Given the description of an element on the screen output the (x, y) to click on. 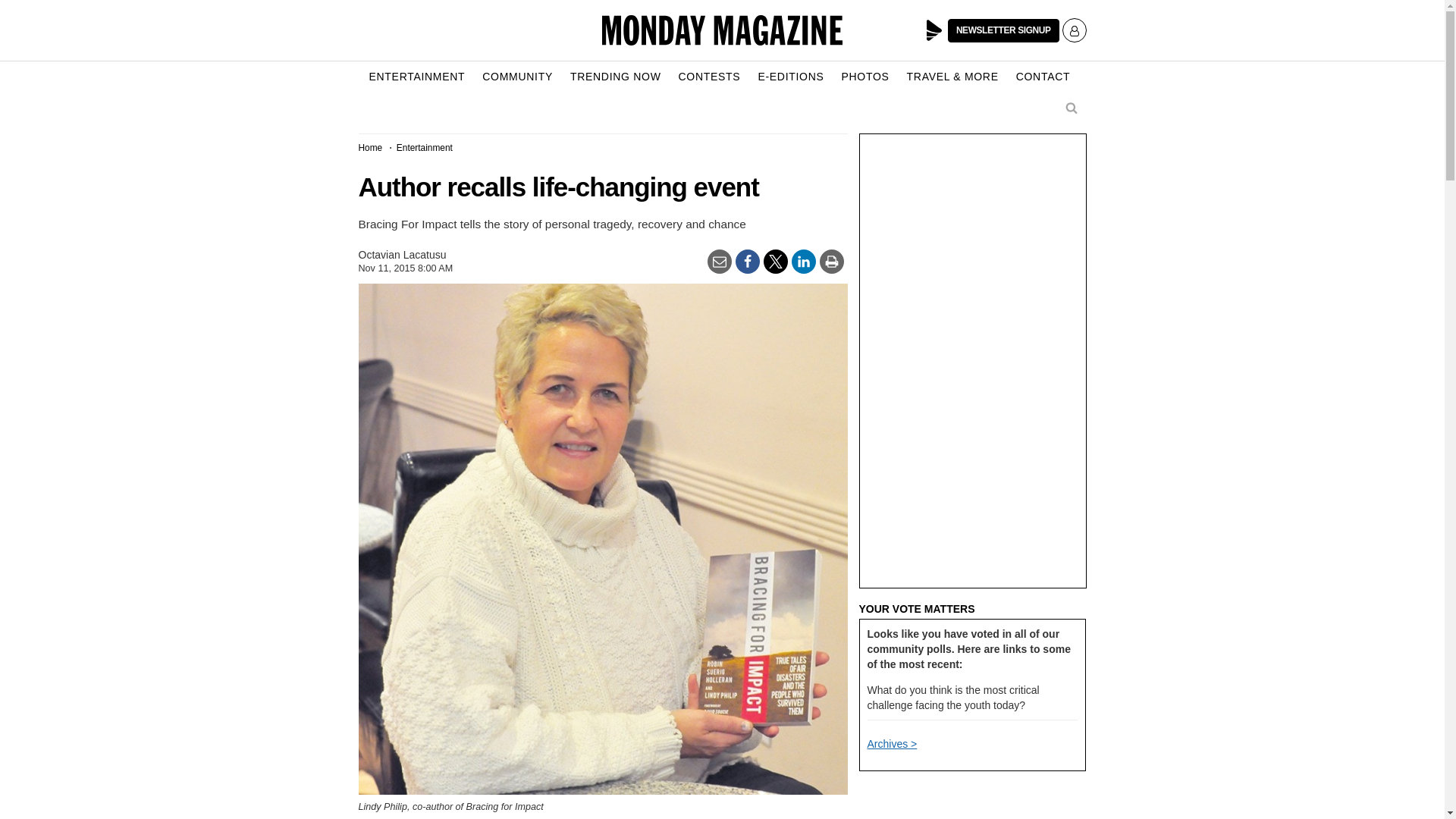
ENTERTAINMENT (416, 76)
NEWSLETTER SIGNUP (1003, 29)
COMMUNITY (517, 76)
Black Press Media (933, 29)
CONTESTS (709, 76)
E-EDITIONS (790, 76)
Play (933, 29)
PHOTOS (865, 76)
TRENDING NOW (615, 76)
